Given the description of an element on the screen output the (x, y) to click on. 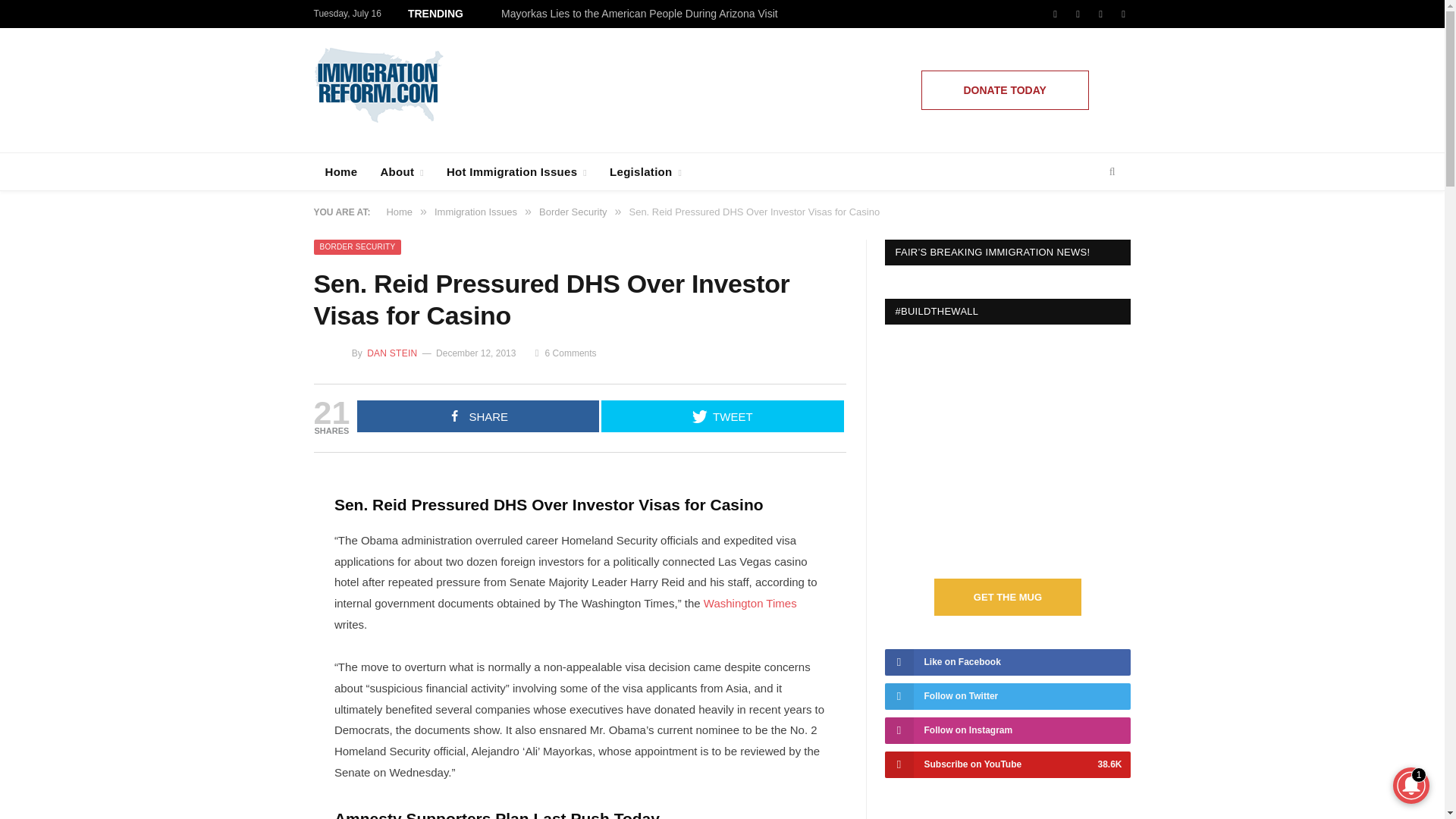
Facebook (1055, 14)
Mayorkas Lies to the American People During Arizona Visit (643, 13)
Search (1112, 171)
YouTube (1100, 14)
YouTube (1100, 14)
DONATE TODAY (1005, 89)
Facebook (1055, 14)
LinkedIn (1123, 14)
Mayorkas Lies to the American People During Arizona Visit (643, 13)
Hot Immigration Issues (516, 171)
ImmigrationReform.com (379, 82)
Twitter (1078, 14)
Twitter (1078, 14)
Legislation (645, 171)
About (401, 171)
